Given the description of an element on the screen output the (x, y) to click on. 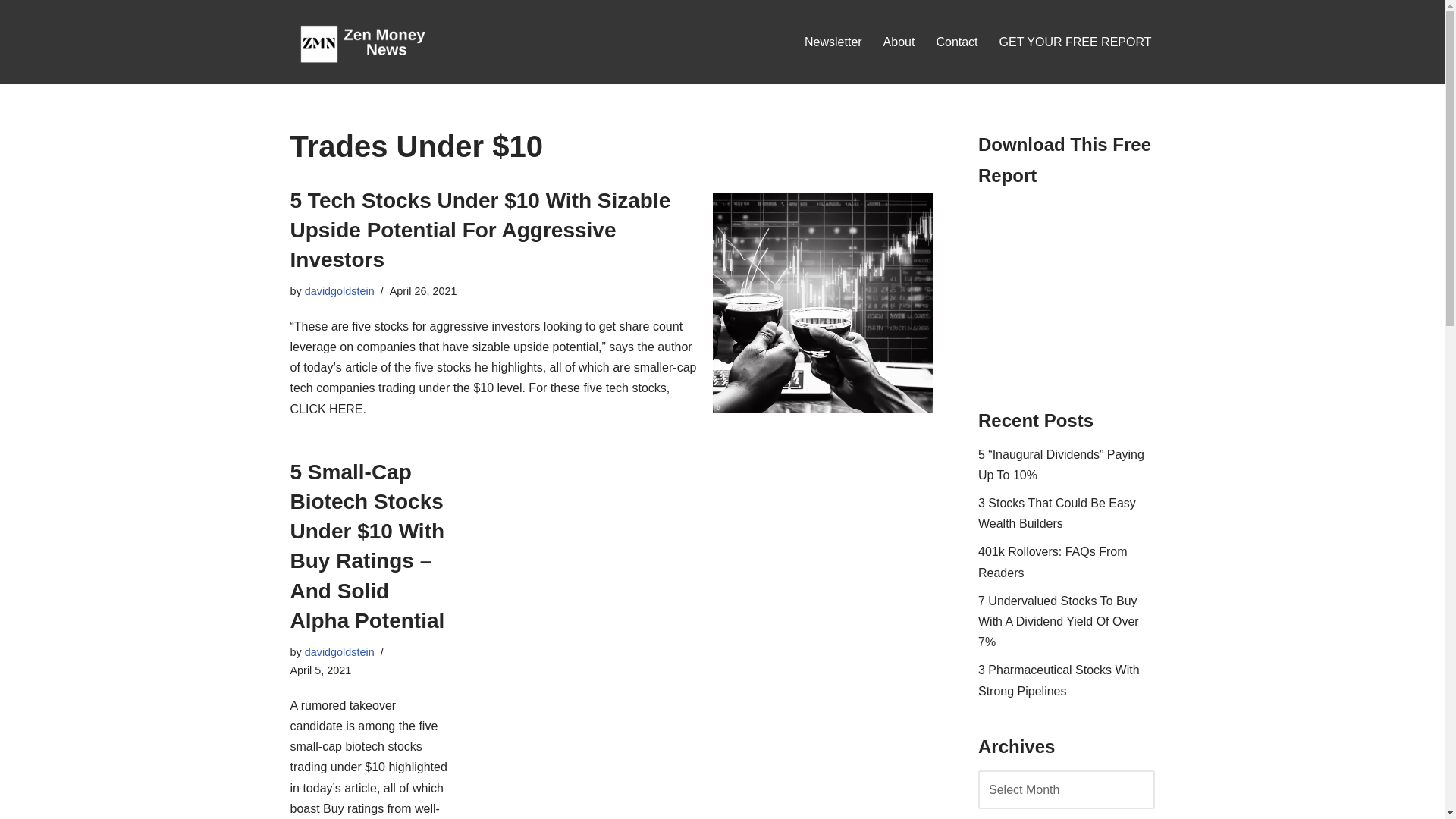
Newsletter (833, 41)
GET YOUR FREE REPORT (1074, 41)
About (899, 41)
Contact (956, 41)
Posts by davidgoldstein (339, 291)
3 Stocks That Could Be Easy Wealth Builders (1056, 512)
Skip to content (11, 31)
davidgoldstein (339, 652)
3 Pharmaceutical Stocks With Strong Pipelines (1059, 679)
davidgoldstein (339, 291)
Posts by davidgoldstein (339, 652)
401k Rollovers: FAQs From Readers (1052, 561)
